Given the description of an element on the screen output the (x, y) to click on. 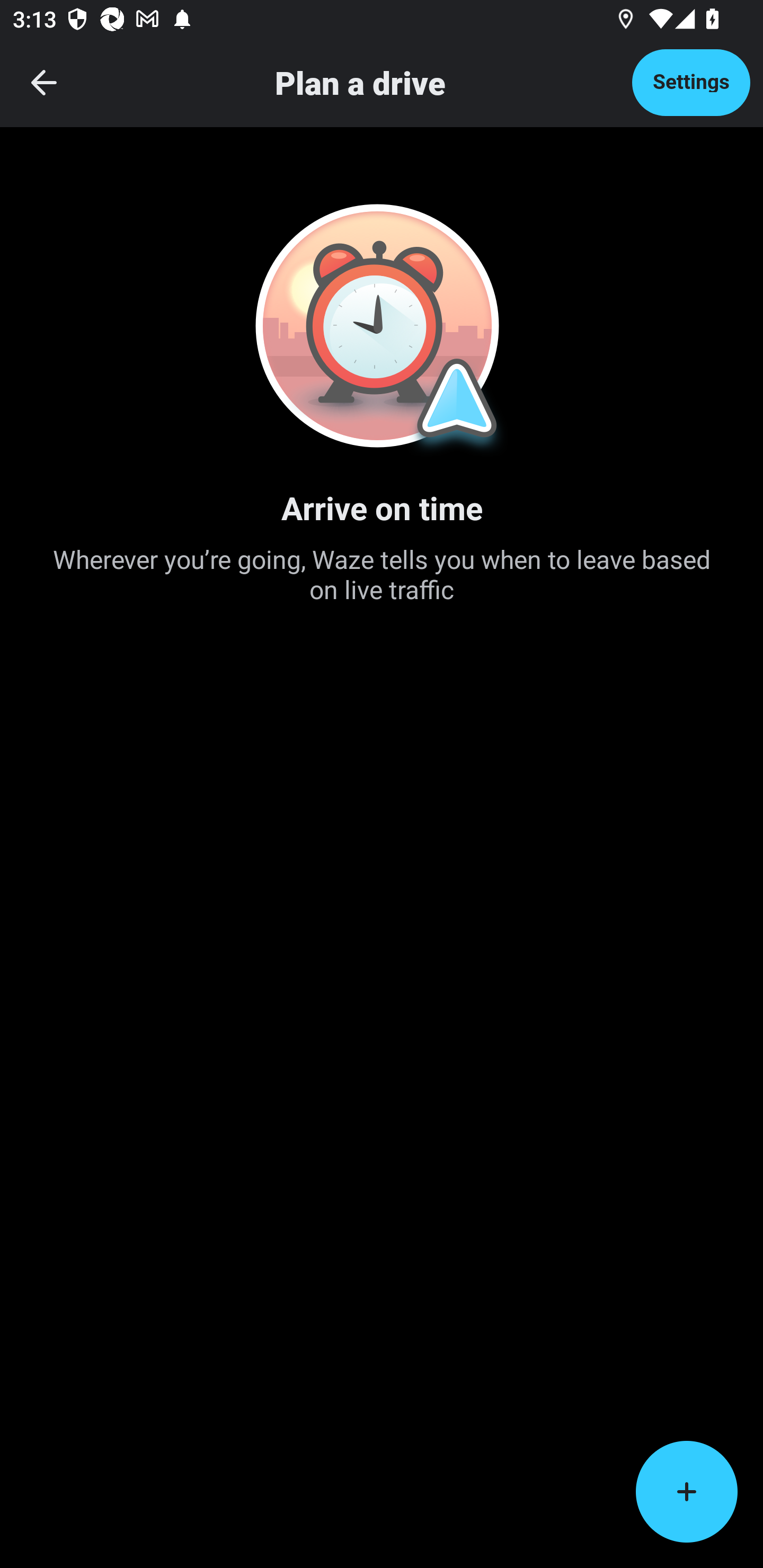
Settings (690, 82)
ACTION_CELL_ICON Inbox ACTION_CELL_TEXT (381, 529)
ACTION_CELL_ICON Settings ACTION_CELL_TEXT (381, 620)
